Given the description of an element on the screen output the (x, y) to click on. 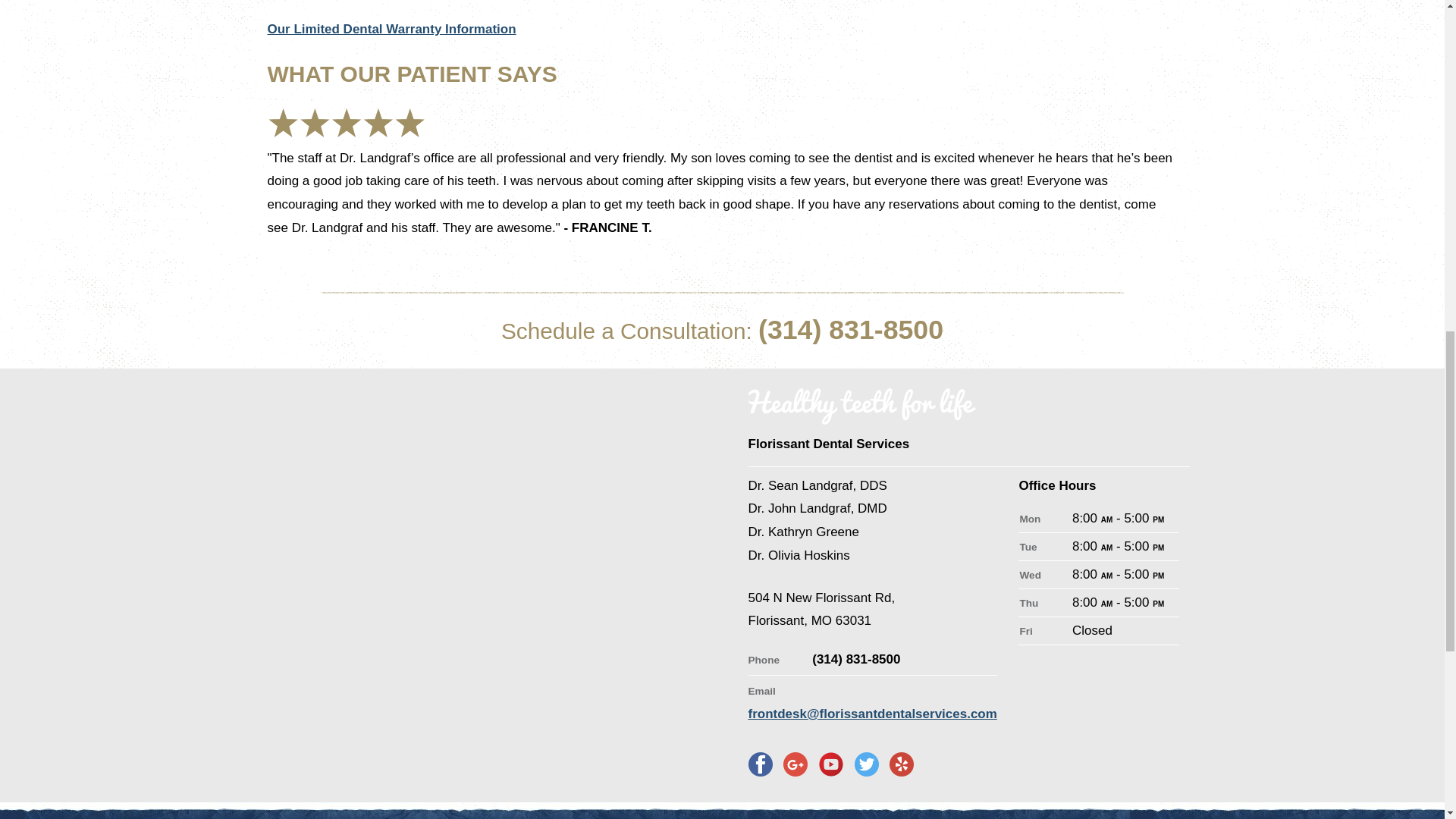
Follow us on Facebook (901, 764)
Watch us on Facebook (830, 764)
Follow us on Facebook (759, 764)
Follow us on Facebook (866, 764)
Follow us on Facebook (795, 764)
